Given the description of an element on the screen output the (x, y) to click on. 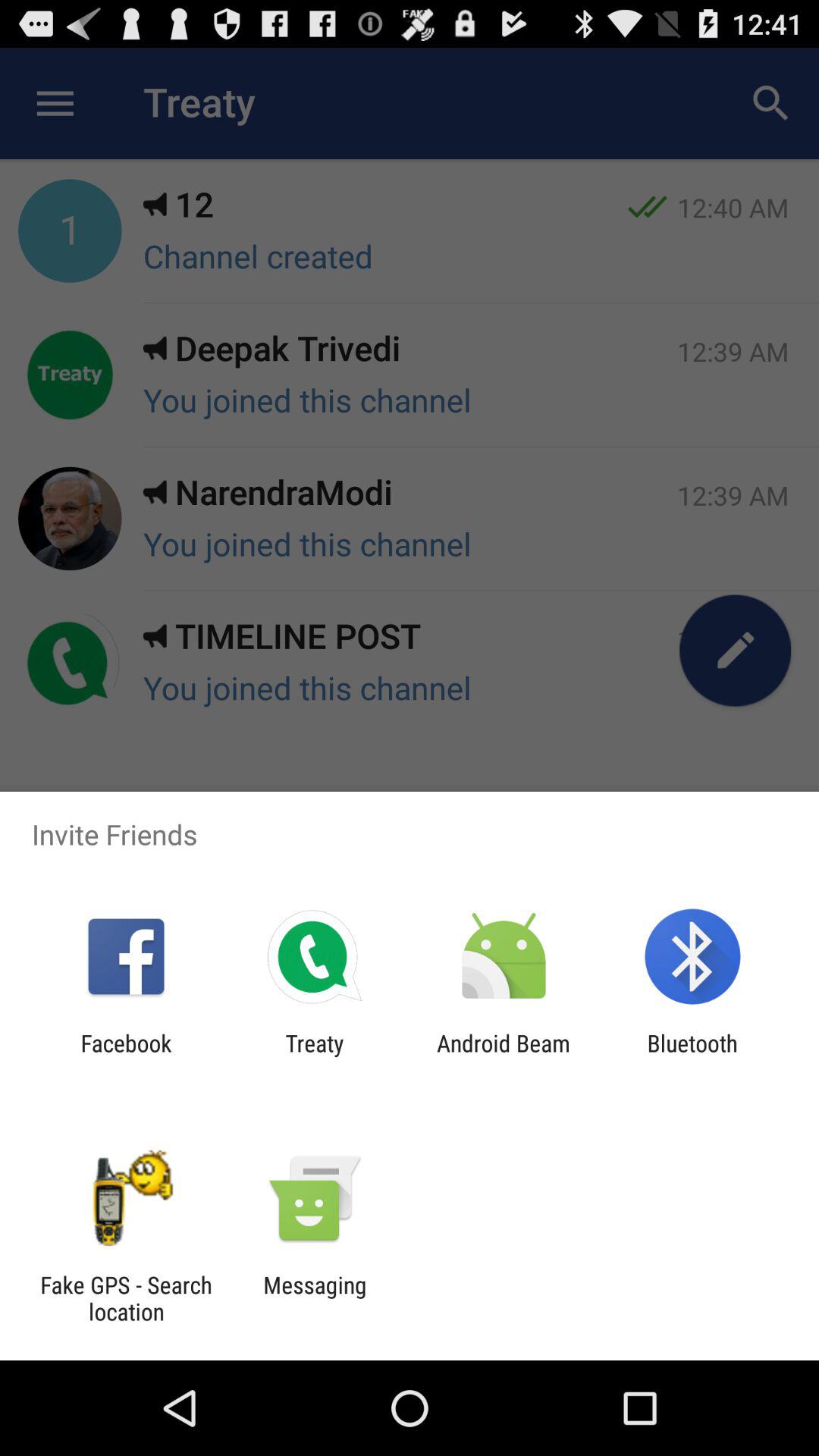
open the facebook (125, 1056)
